Given the description of an element on the screen output the (x, y) to click on. 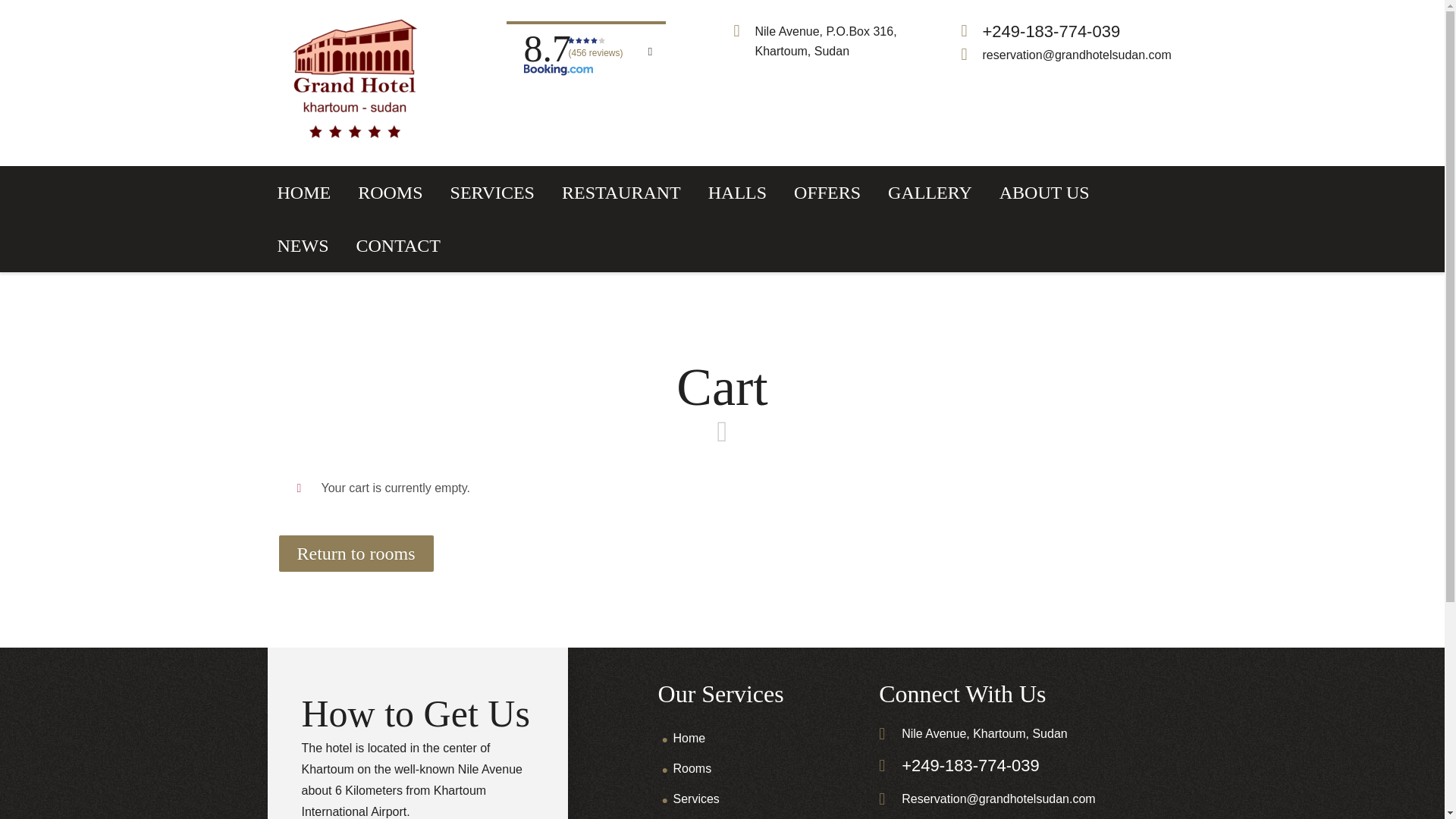
ROOMS (389, 192)
Rooms (691, 768)
Home (689, 737)
RESTAURANT (621, 192)
ABOUT US (1044, 192)
CONTACT (398, 245)
HOME (304, 192)
Restaurant (702, 817)
SERVICES (492, 192)
Services (695, 798)
